Given the description of an element on the screen output the (x, y) to click on. 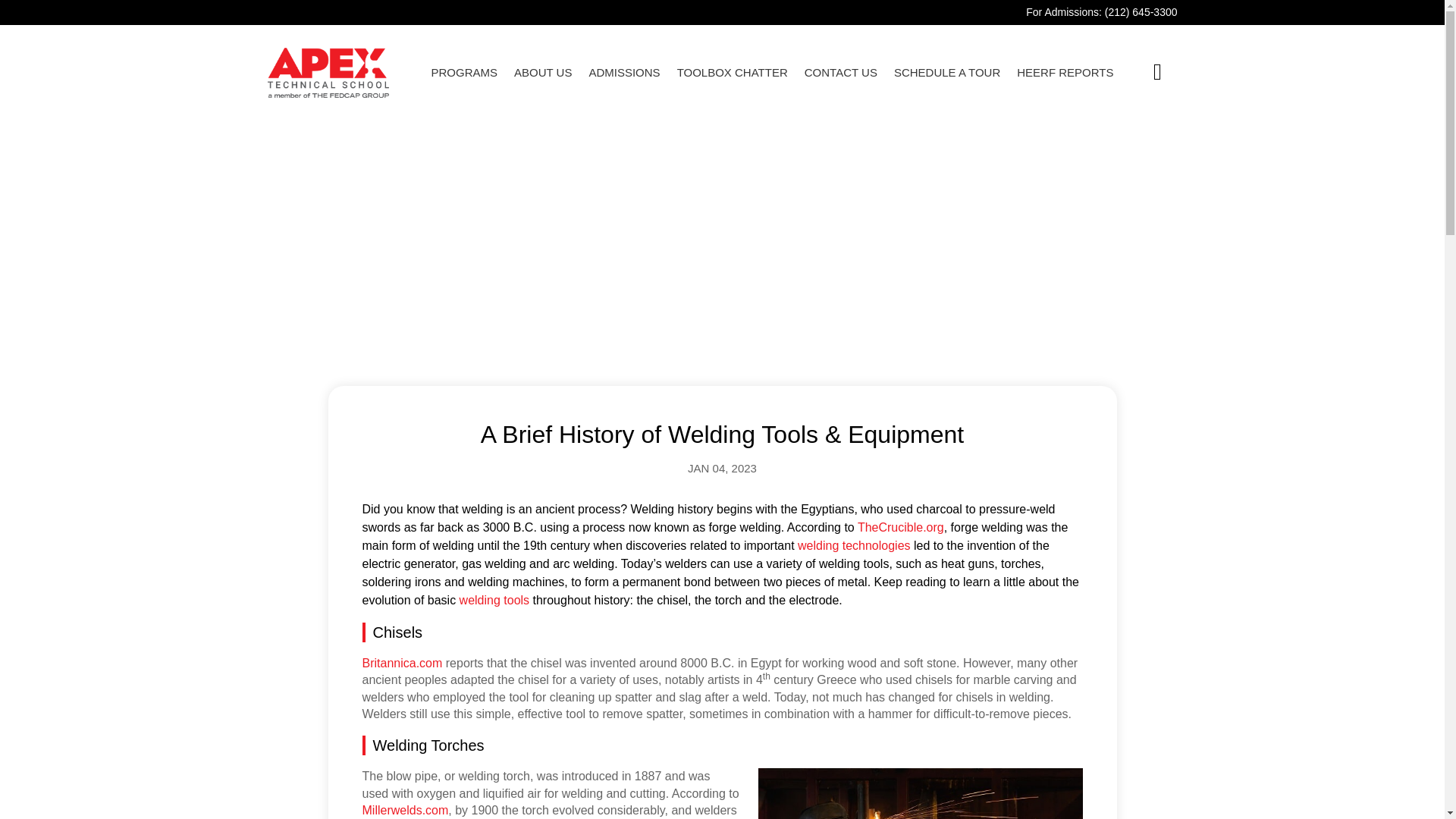
ABOUT US (542, 72)
PROGRAMS (463, 72)
TOOLBOX CHATTER (732, 72)
ADMISSIONS (623, 72)
CONTACT US (841, 72)
HEERF REPORTS (1064, 72)
SCHEDULE A TOUR (946, 72)
